Given the description of an element on the screen output the (x, y) to click on. 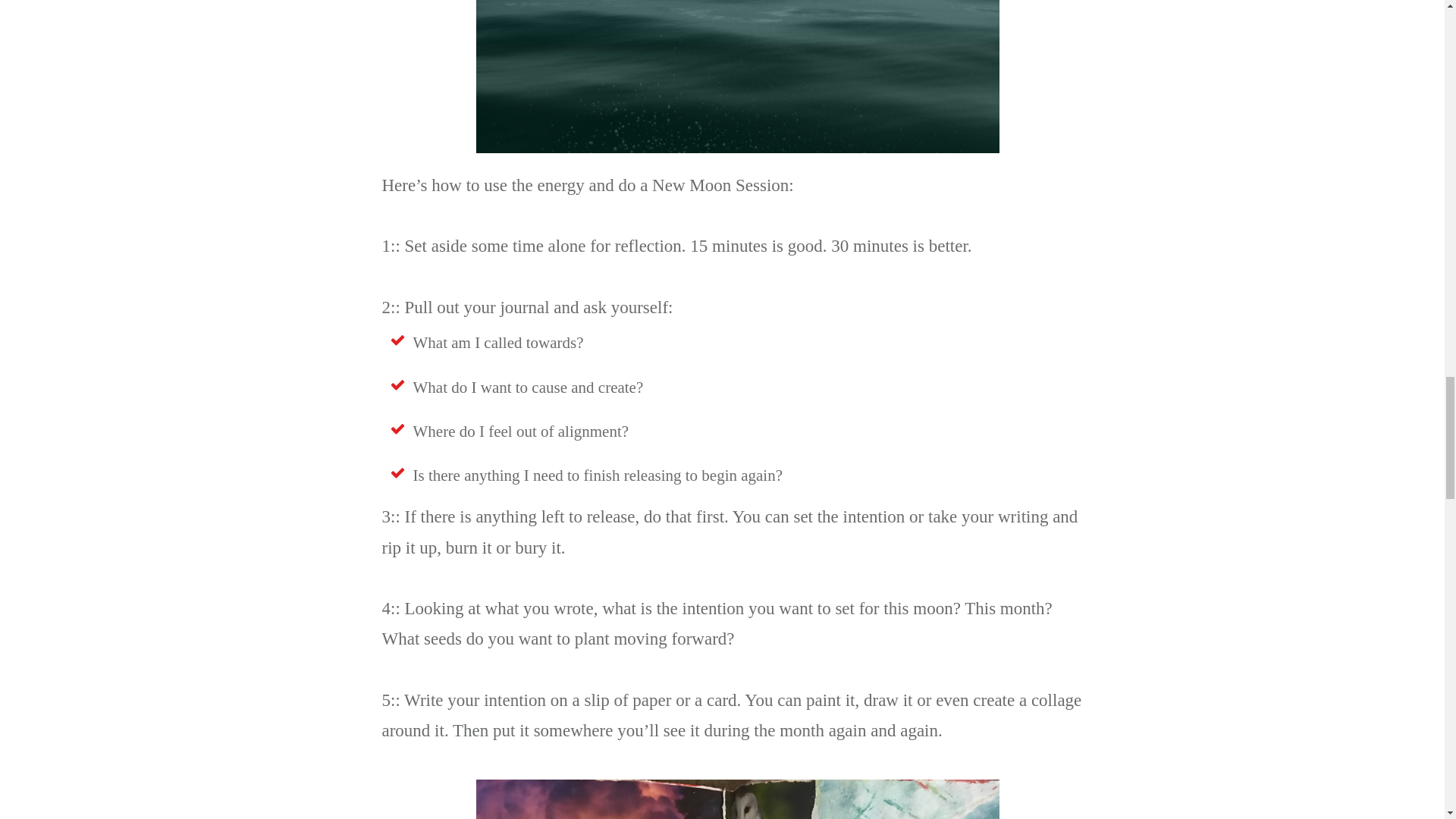
saffu-UEgo43quyCw-unsplash (737, 76)
New Moon Collage (737, 799)
